Given the description of an element on the screen output the (x, y) to click on. 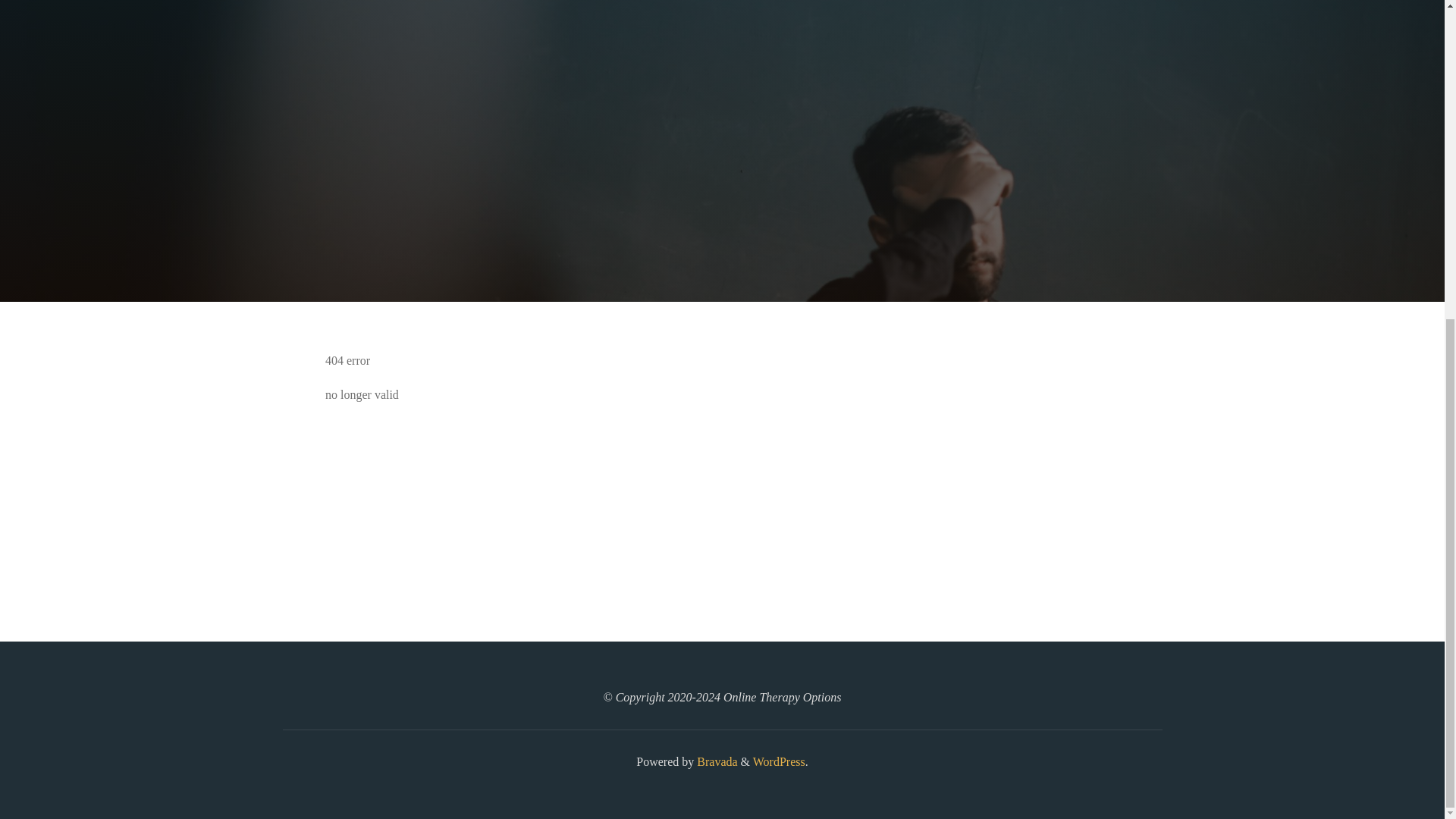
Semantic Personal Publishing Platform (778, 761)
Bravada (715, 761)
WordPress (778, 761)
Read more (721, 207)
Bravada WordPress Theme by Cryout Creations (715, 761)
